Given the description of an element on the screen output the (x, y) to click on. 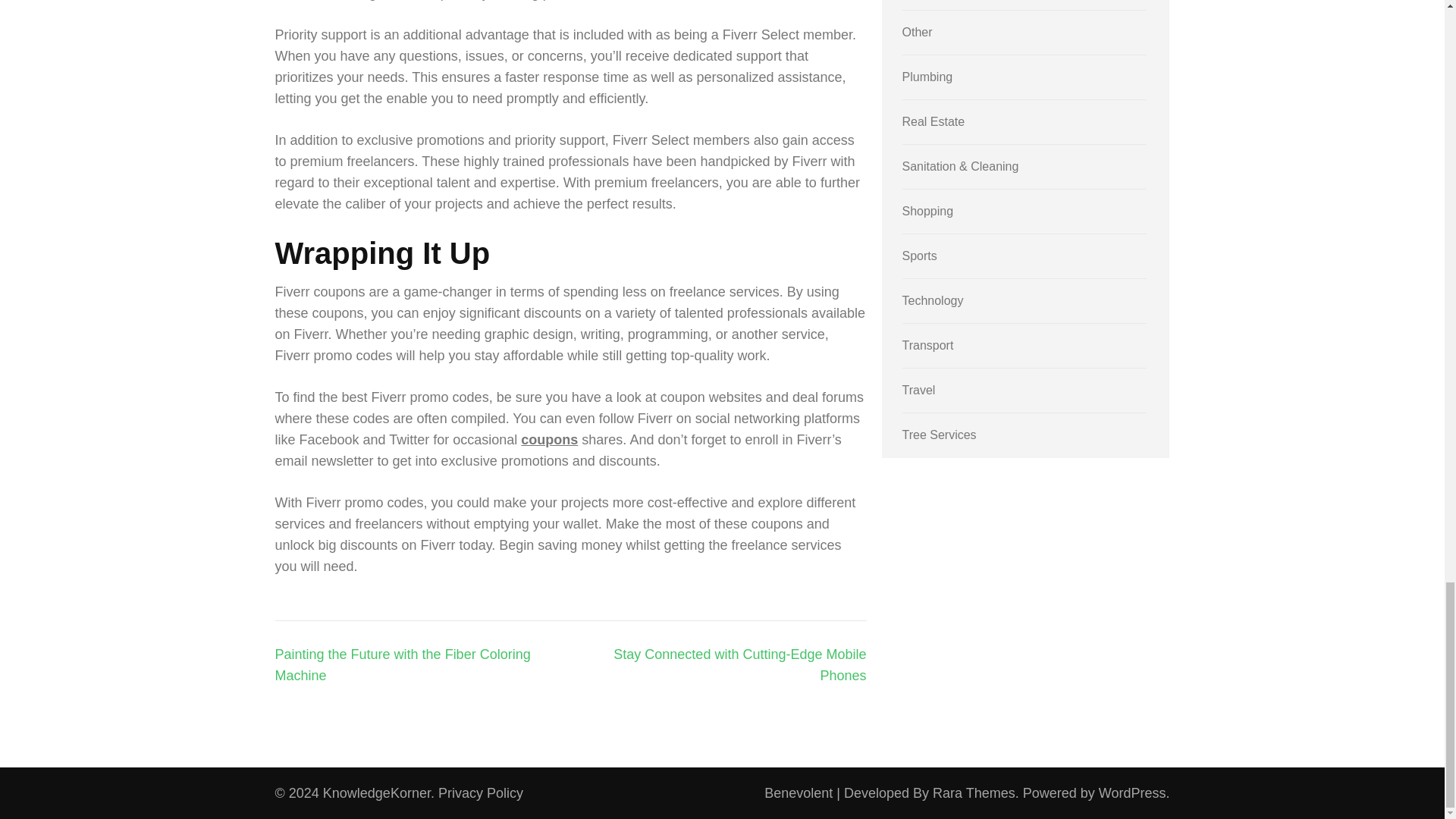
Stay Connected with Cutting-Edge Mobile Phones (739, 665)
coupons (549, 439)
Painting the Future with the Fiber Coloring Machine (402, 665)
